Given the description of an element on the screen output the (x, y) to click on. 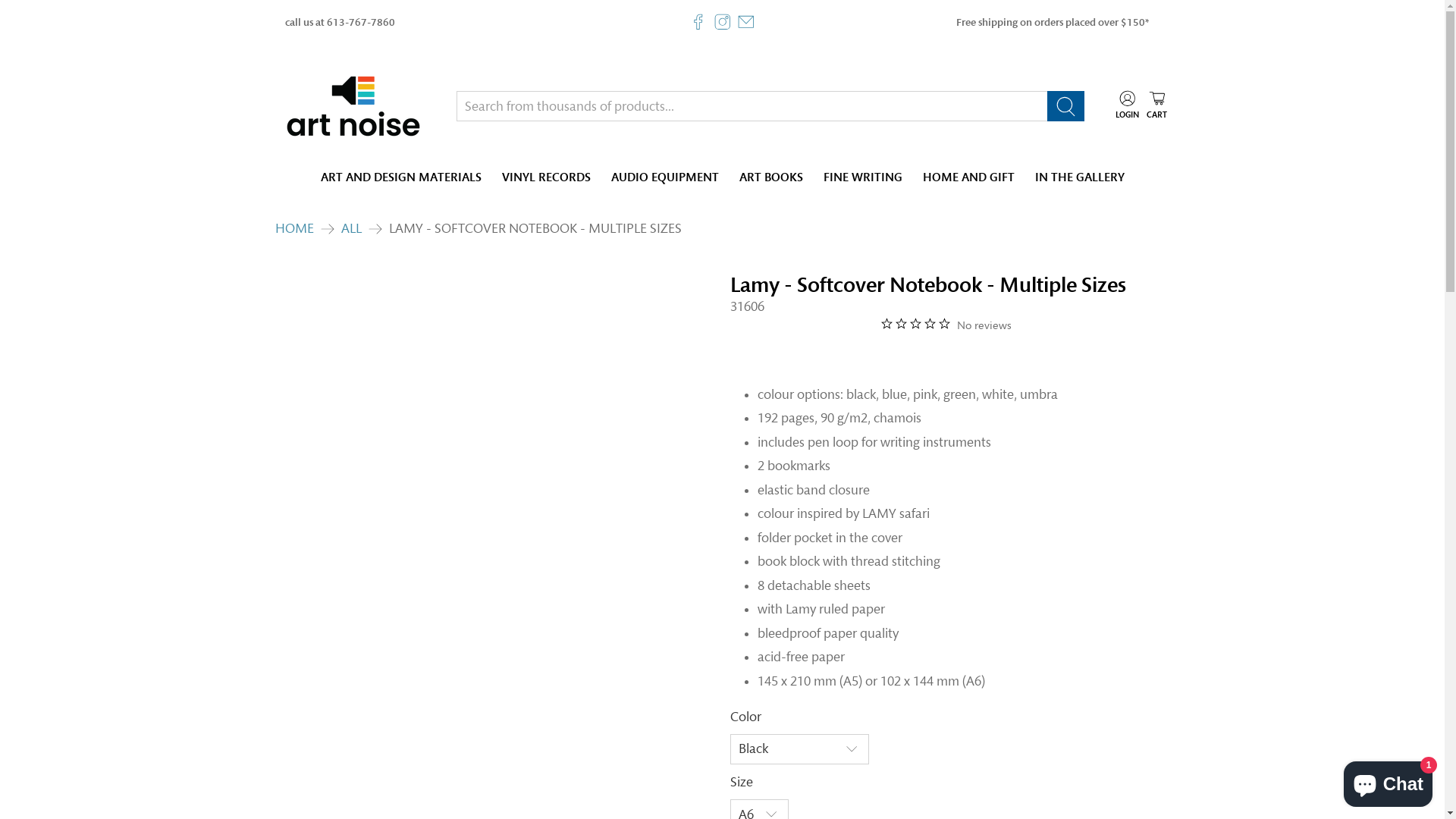
Art Noise on Instagram Element type: hover (722, 21)
HOME Element type: text (293, 228)
HOME AND GIFT Element type: text (968, 177)
Email Art Noise Element type: hover (745, 21)
ART BOOKS Element type: text (770, 177)
ART AND DESIGN MATERIALS Element type: text (400, 177)
IN THE GALLERY Element type: text (1079, 177)
Art Noise on Facebook Element type: hover (698, 21)
LOGIN Element type: text (1126, 105)
FINE WRITING Element type: text (862, 177)
AUDIO EQUIPMENT Element type: text (664, 177)
VINYL RECORDS Element type: text (545, 177)
ALL Element type: text (351, 228)
CART Element type: text (1156, 106)
Shopify online store chat Element type: hover (1388, 780)
Art Noise Element type: hover (353, 106)
